Given the description of an element on the screen output the (x, y) to click on. 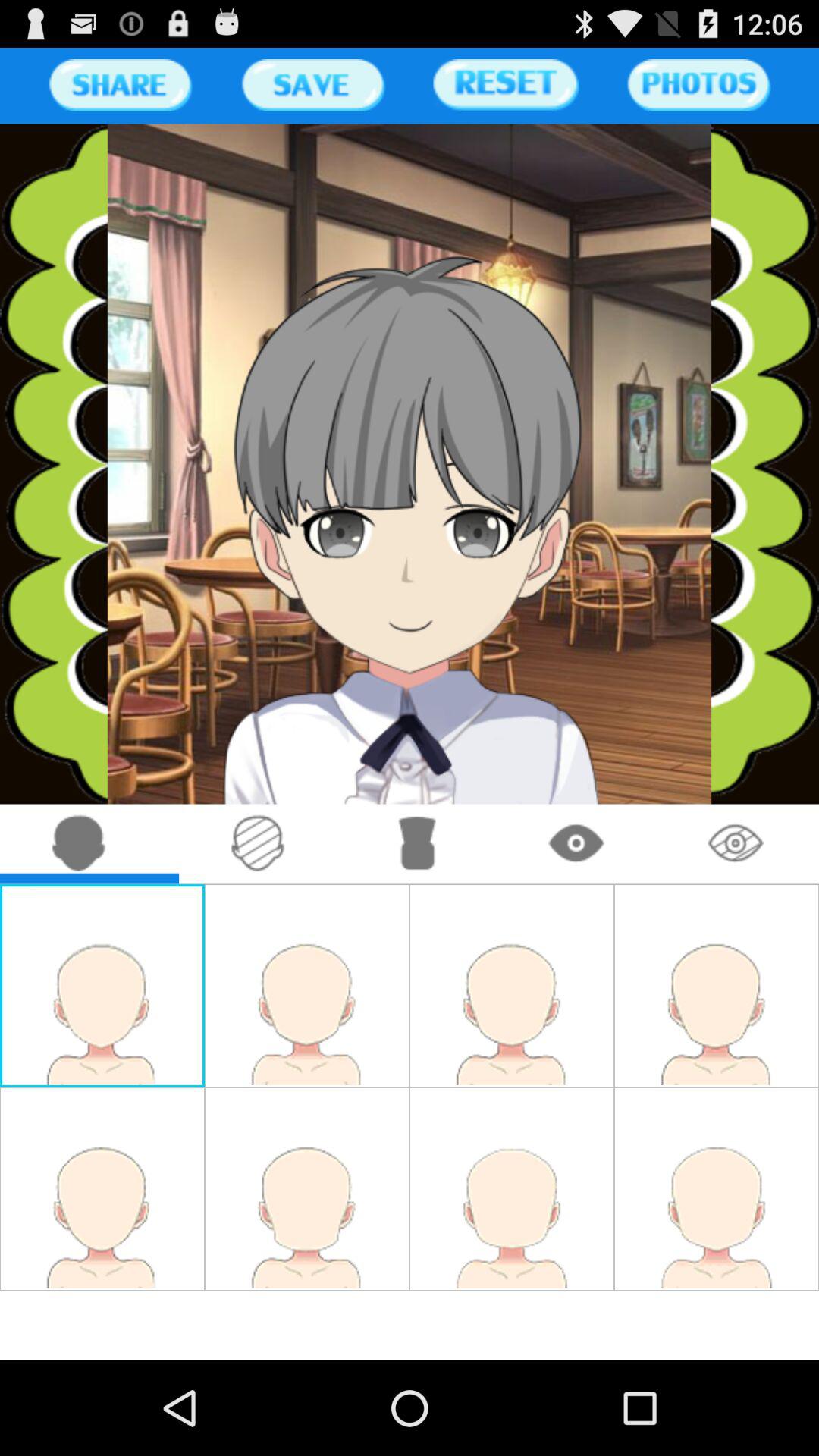
draw eyes (577, 843)
